Given the description of an element on the screen output the (x, y) to click on. 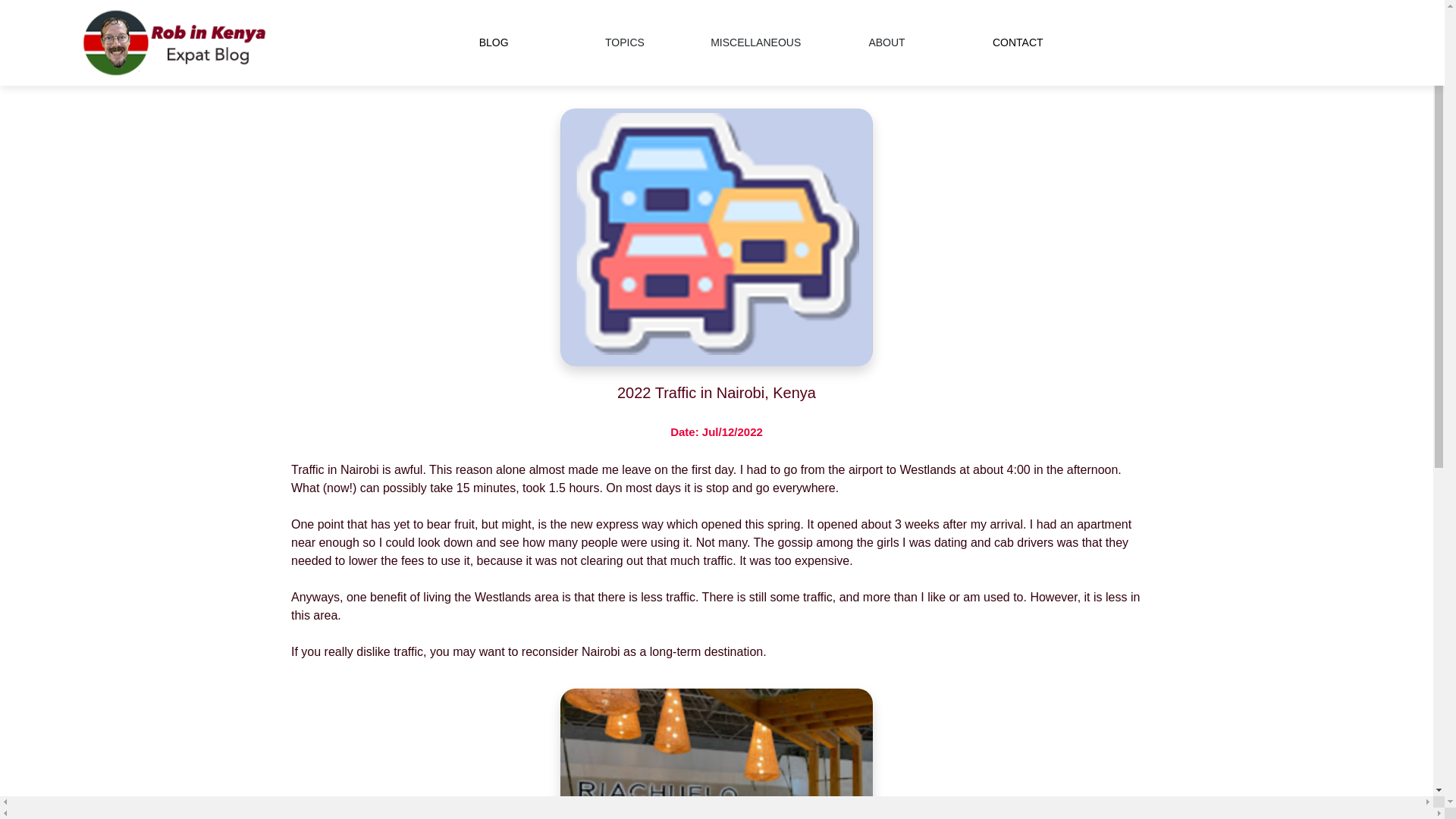
BLOG (493, 42)
CONTACT (1017, 42)
